Given the description of an element on the screen output the (x, y) to click on. 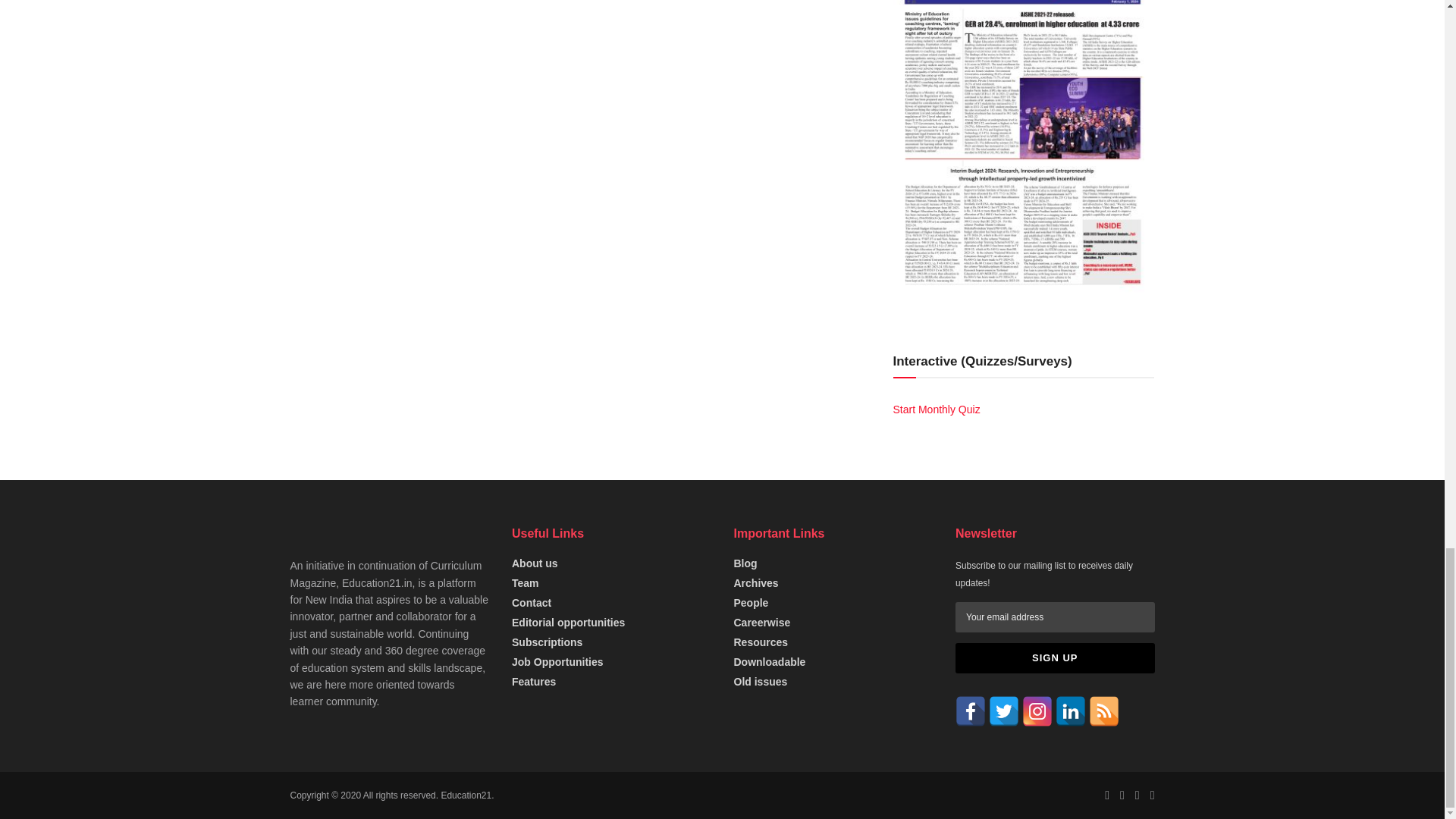
Twitter (1003, 711)
Sign up (1054, 657)
Facebook (970, 711)
